Given the description of an element on the screen output the (x, y) to click on. 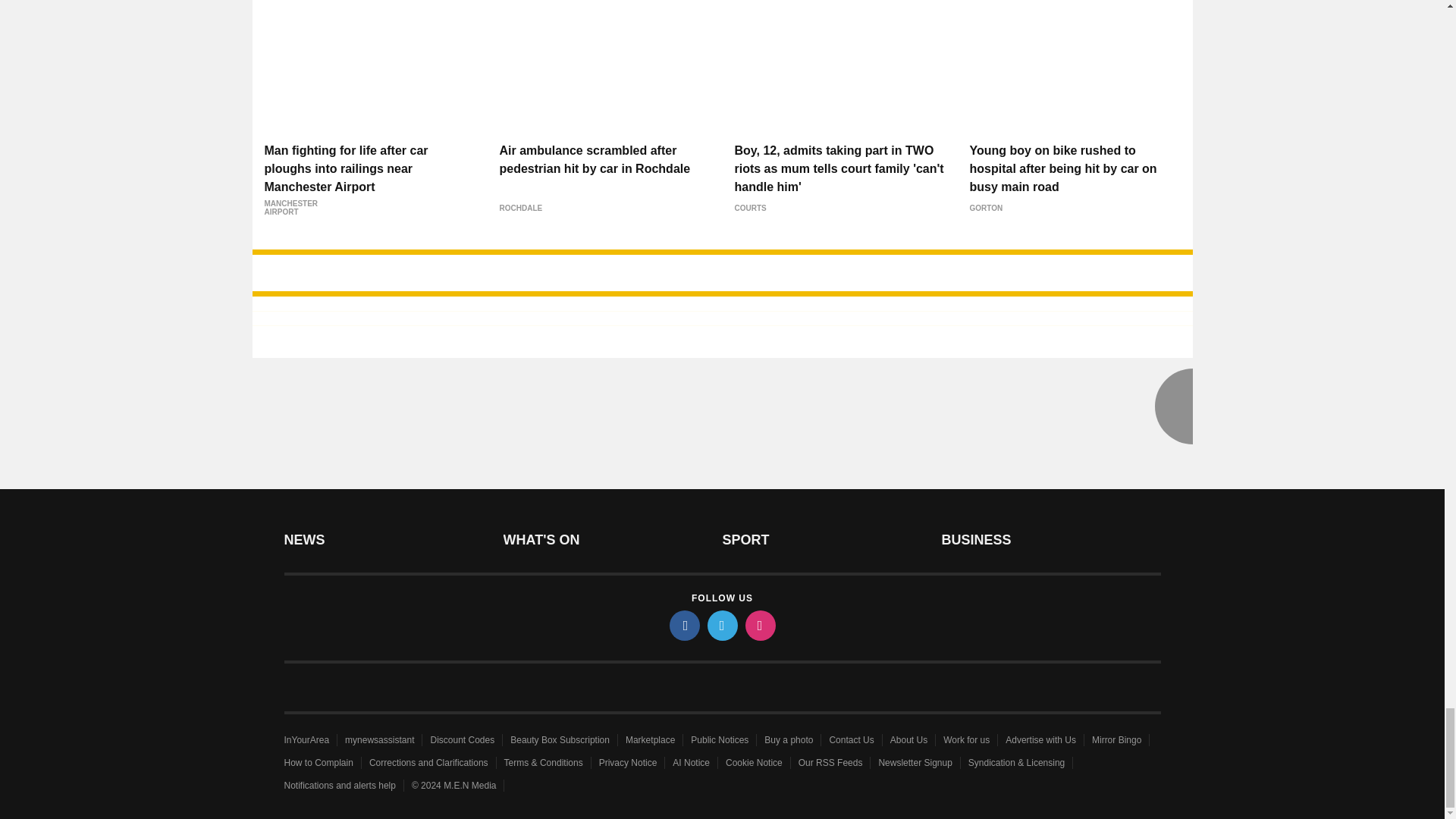
twitter (721, 625)
instagram (759, 625)
facebook (683, 625)
